Given the description of an element on the screen output the (x, y) to click on. 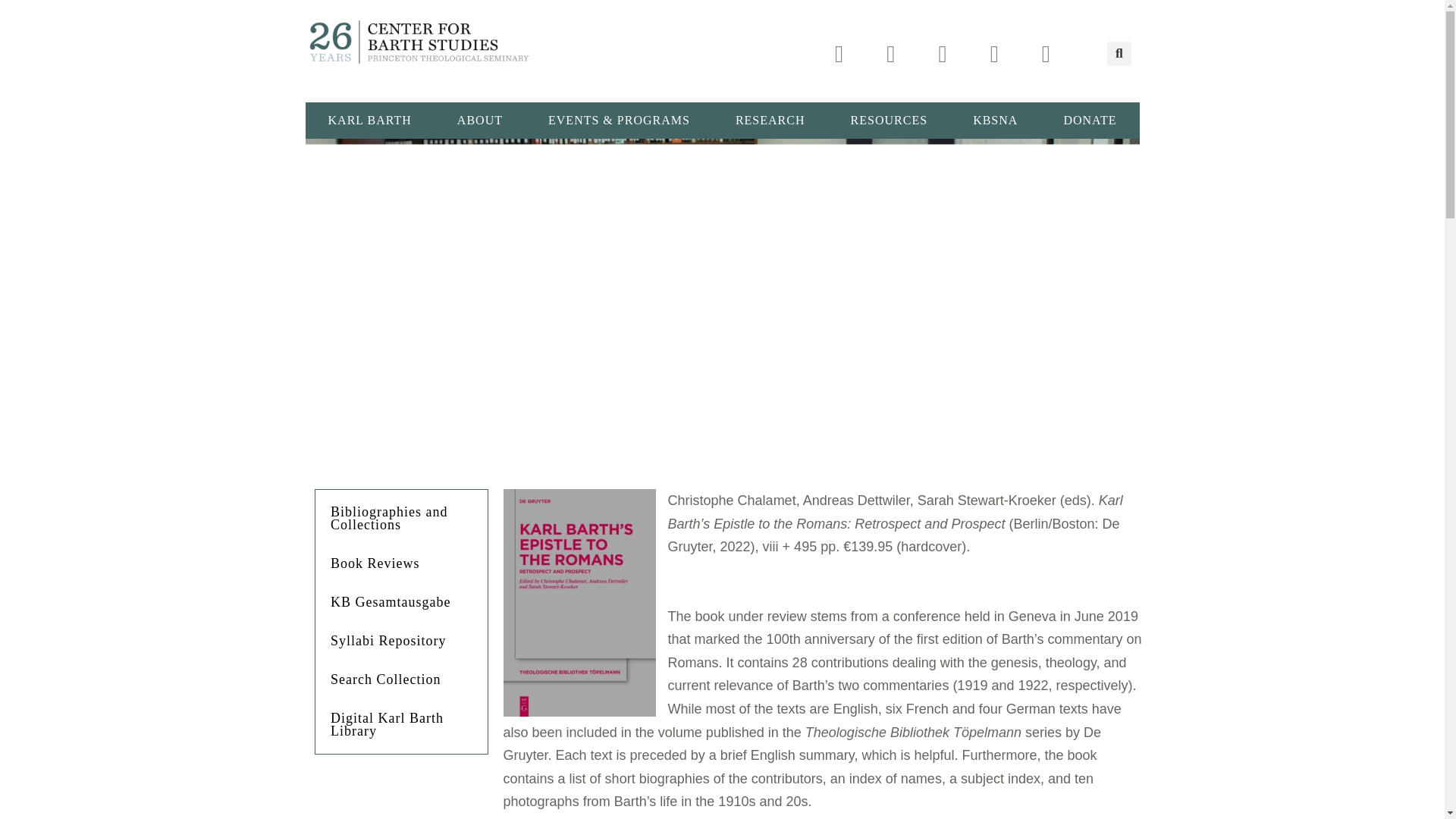
ABOUT (479, 120)
RESEARCH (770, 120)
KARL BARTH (368, 120)
